Given the description of an element on the screen output the (x, y) to click on. 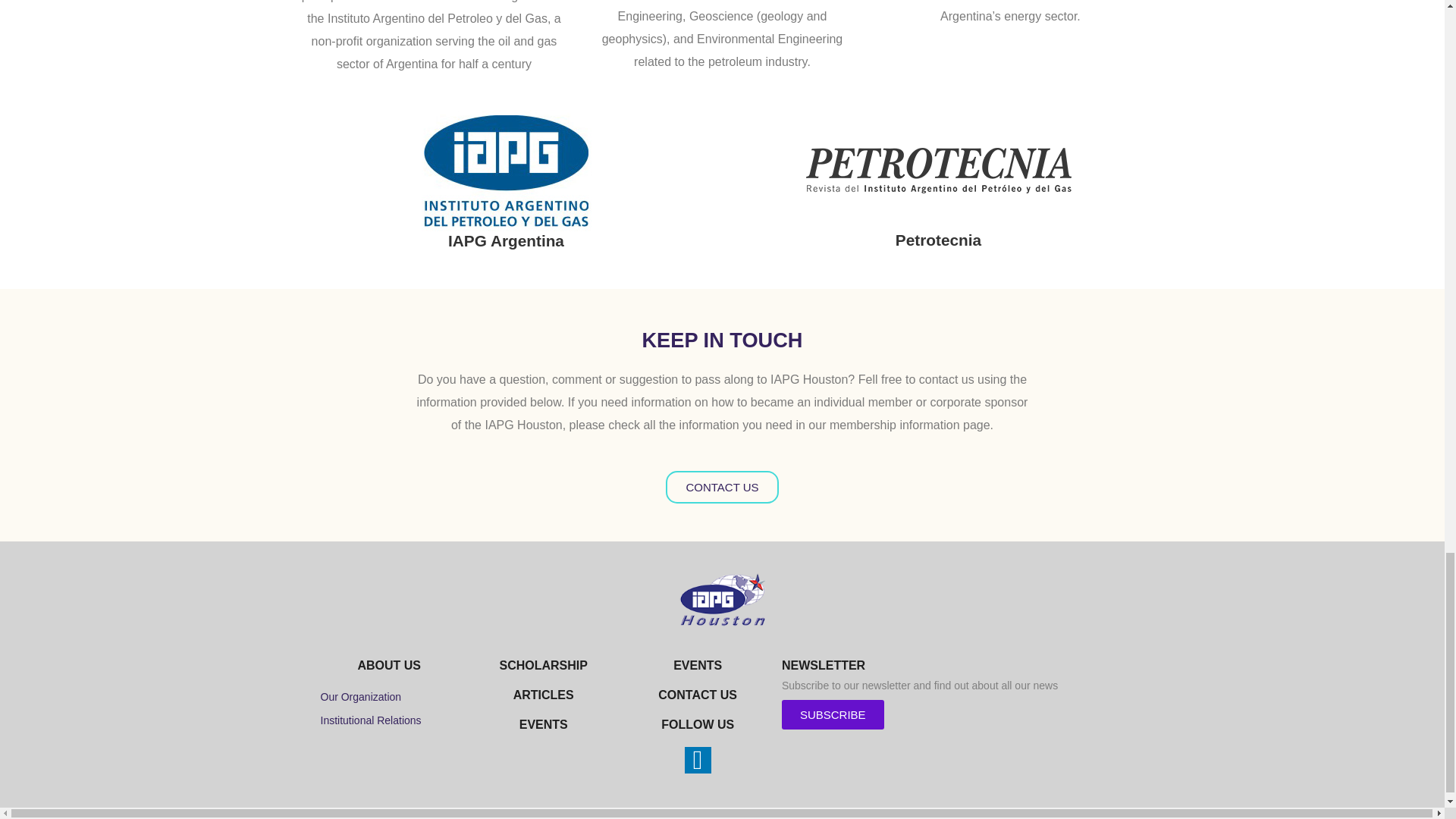
Petrotecnia (938, 239)
IAPG Argentina (506, 240)
CONTACT US (721, 486)
